Given the description of an element on the screen output the (x, y) to click on. 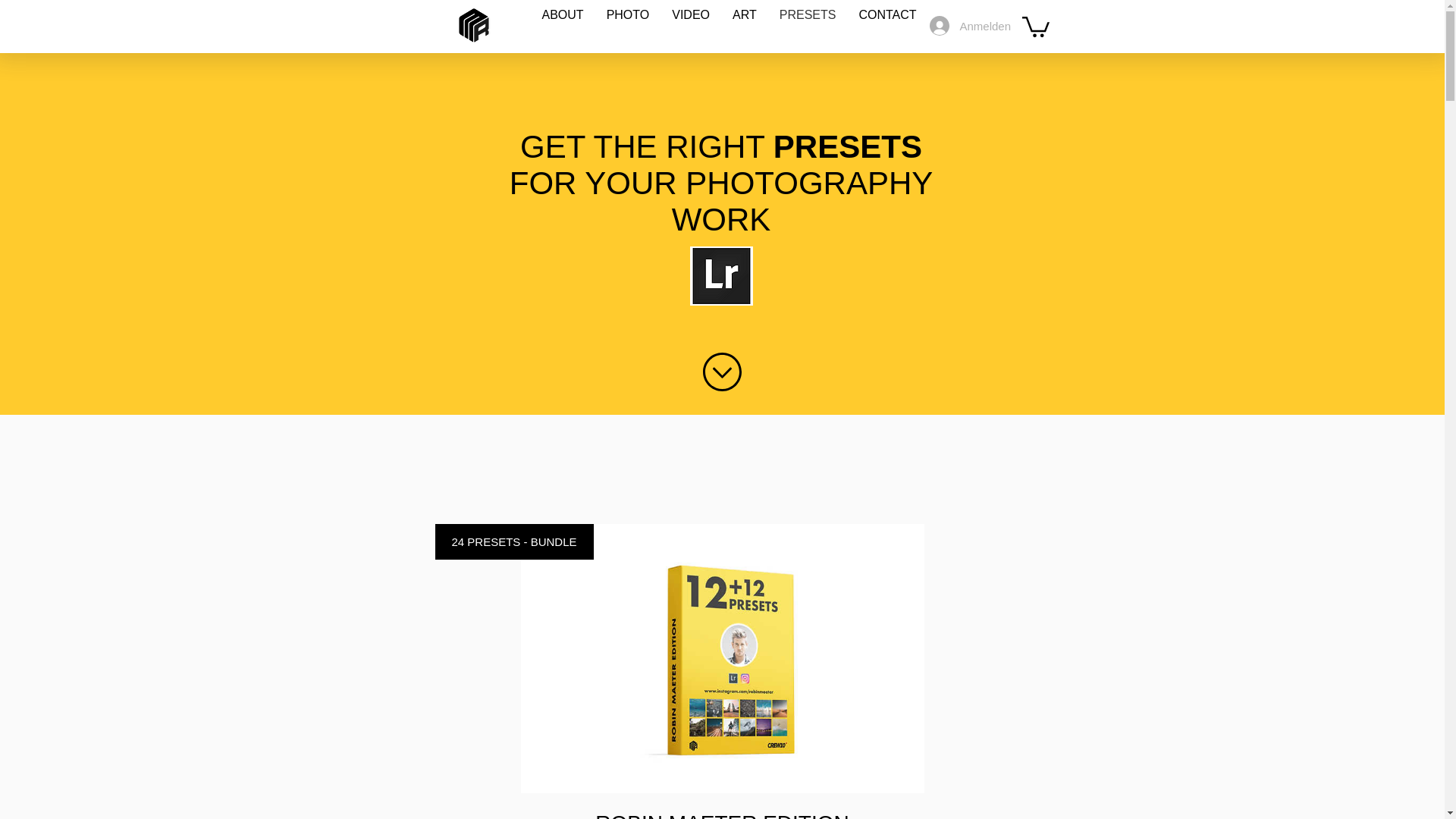
VIDEO (690, 25)
PRESETS (807, 25)
ART (744, 25)
Anmelden (964, 25)
ABOUT (563, 25)
CONTACT (887, 25)
PHOTO (628, 25)
